Given the description of an element on the screen output the (x, y) to click on. 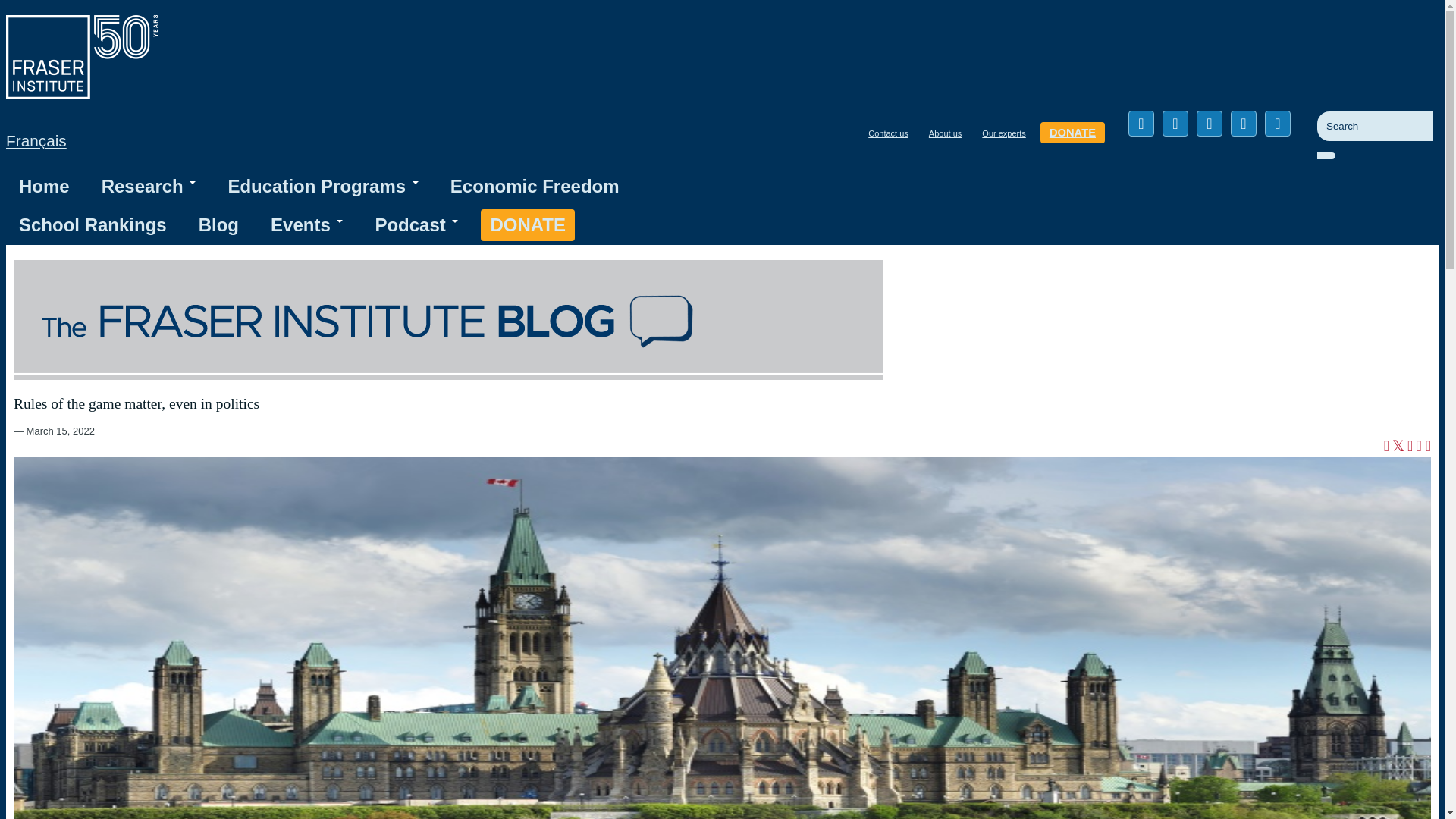
DONATE (1073, 132)
Twitter (1174, 123)
Display a printer-friendly version of this page. (1428, 446)
LinkedIn (1209, 123)
Search (1339, 161)
Our experts (1002, 133)
Home (81, 93)
Donate (527, 224)
School Rankings (93, 224)
Fraser Forum (447, 320)
About us (945, 133)
Contact us (887, 133)
Instagram (1277, 123)
